Given the description of an element on the screen output the (x, y) to click on. 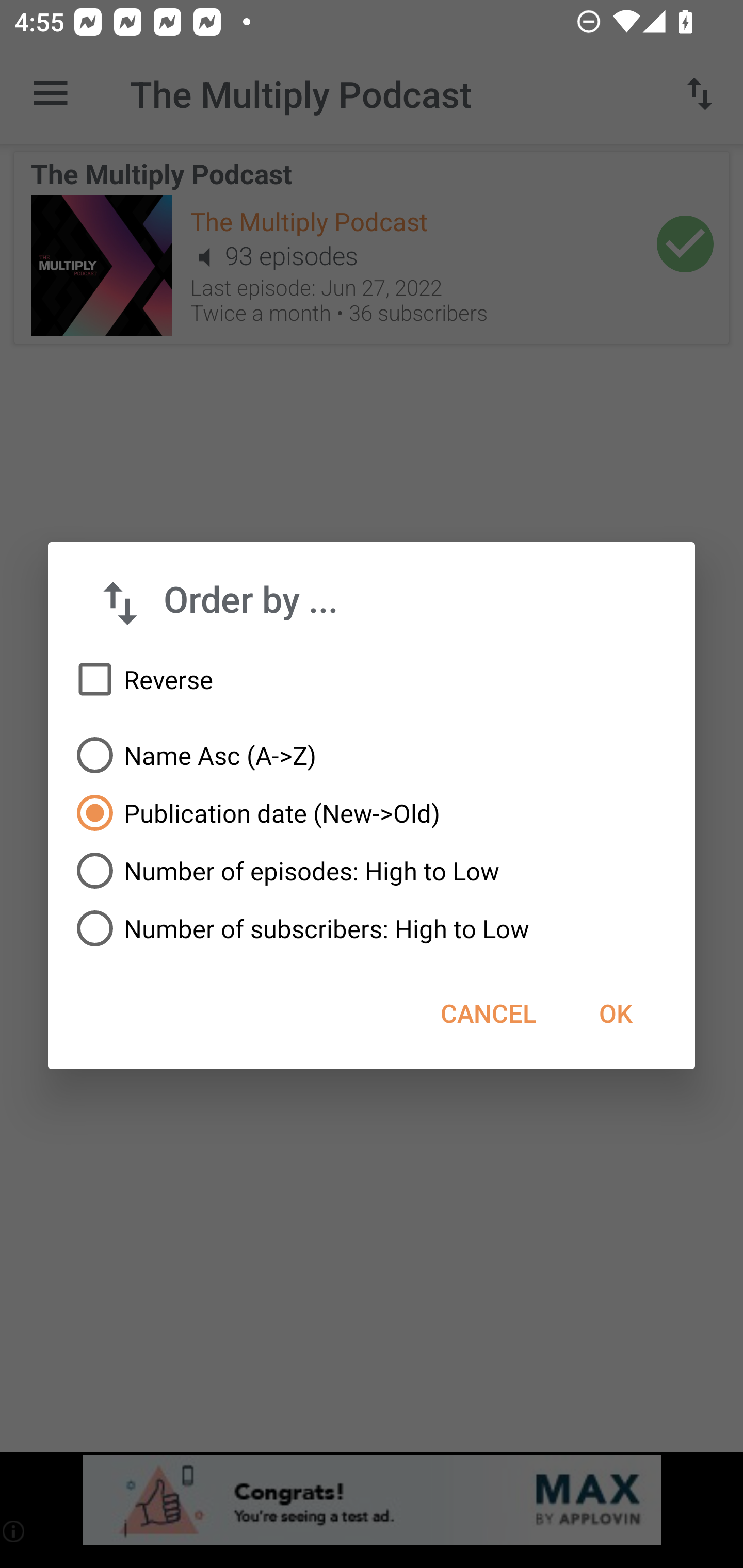
Reverse (371, 679)
Name Asc (A->Z) (371, 754)
Publication date (New->Old) (371, 813)
Number of episodes: High to Low (371, 871)
Number of subscribers: High to Low (371, 929)
CANCEL (488, 1012)
OK (615, 1012)
